Given the description of an element on the screen output the (x, y) to click on. 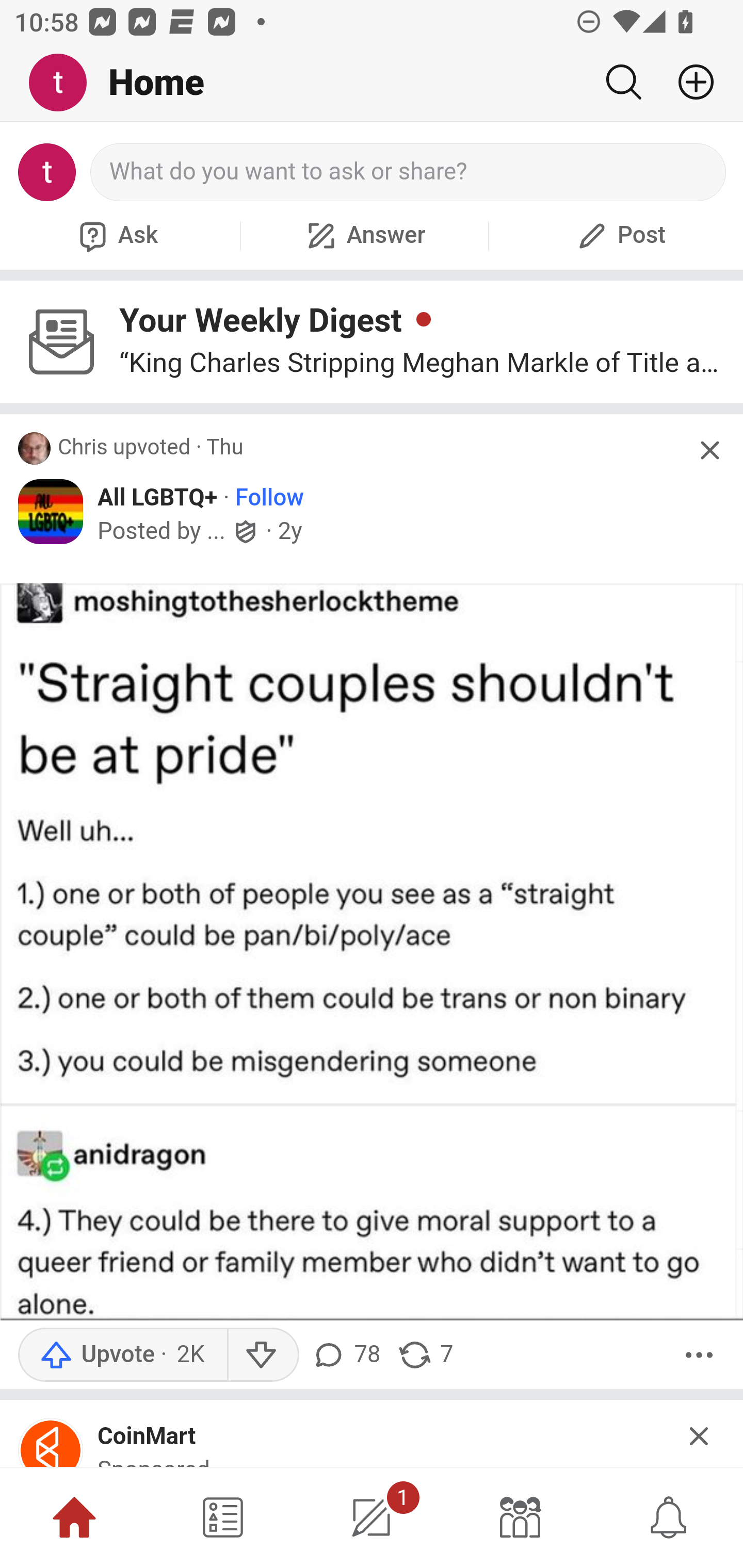
Me (64, 83)
Search (623, 82)
Add (688, 82)
What do you want to ask or share? (408, 172)
Ask (116, 234)
Answer (364, 234)
Post (618, 234)
Hide (709, 449)
Profile photo for Chris Harrington (34, 448)
Icon for All LGBTQ+ (50, 512)
All LGBTQ+ (157, 497)
Follow (269, 498)
Upvote (122, 1355)
Downvote (262, 1355)
78 comments (348, 1355)
7 shares (424, 1355)
More (699, 1355)
Hide (699, 1434)
main-qimg-8807c8a0d662434e6bcbf097b9c441d6 (50, 1443)
CoinMart (146, 1436)
1 (371, 1517)
